Given the description of an element on the screen output the (x, y) to click on. 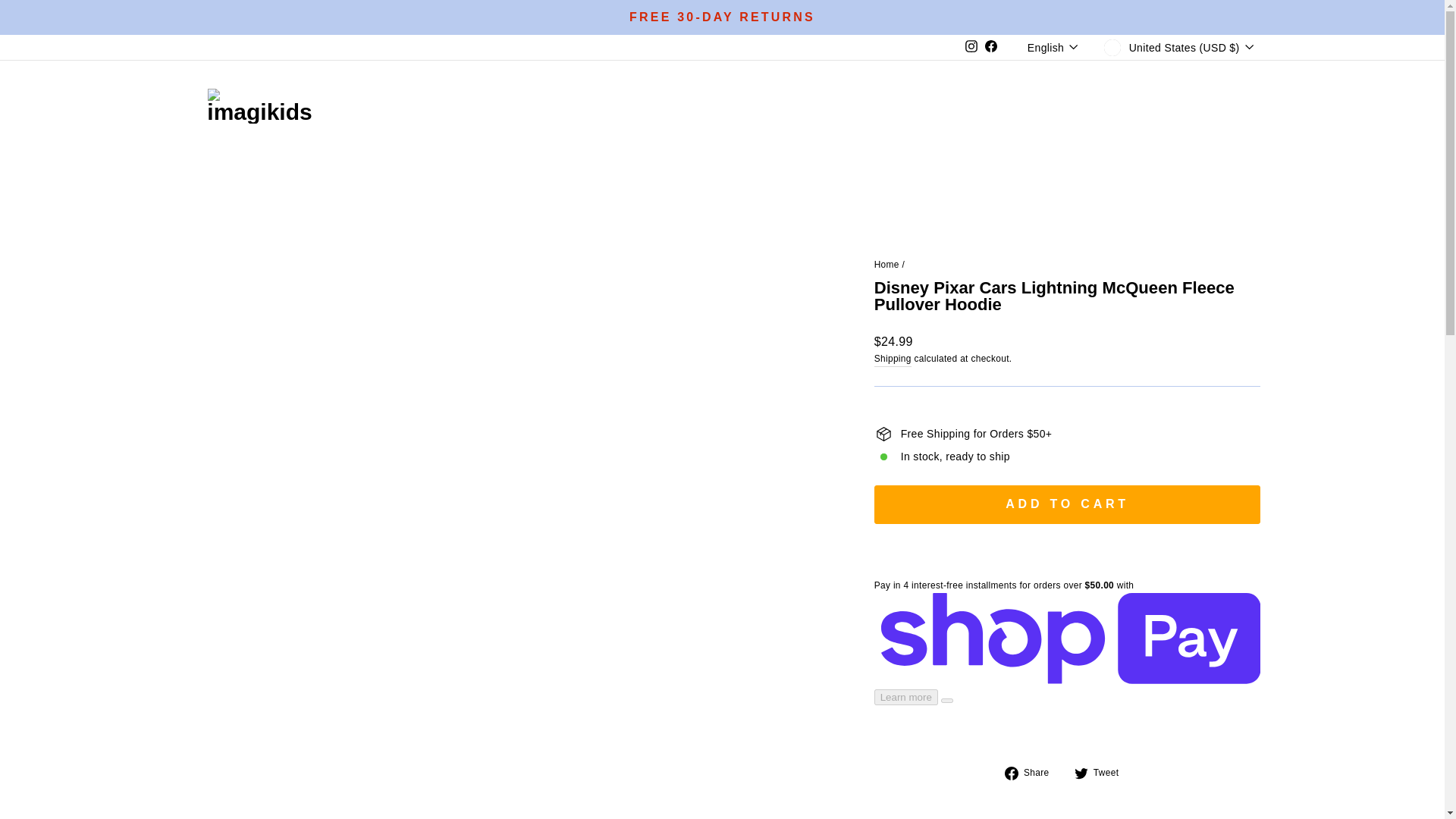
Share on Facebook (1032, 771)
imagikids on Facebook (991, 47)
Tweet on Twitter (1102, 771)
imagikids on Instagram (970, 47)
Back to the frontpage (887, 264)
